Given the description of an element on the screen output the (x, y) to click on. 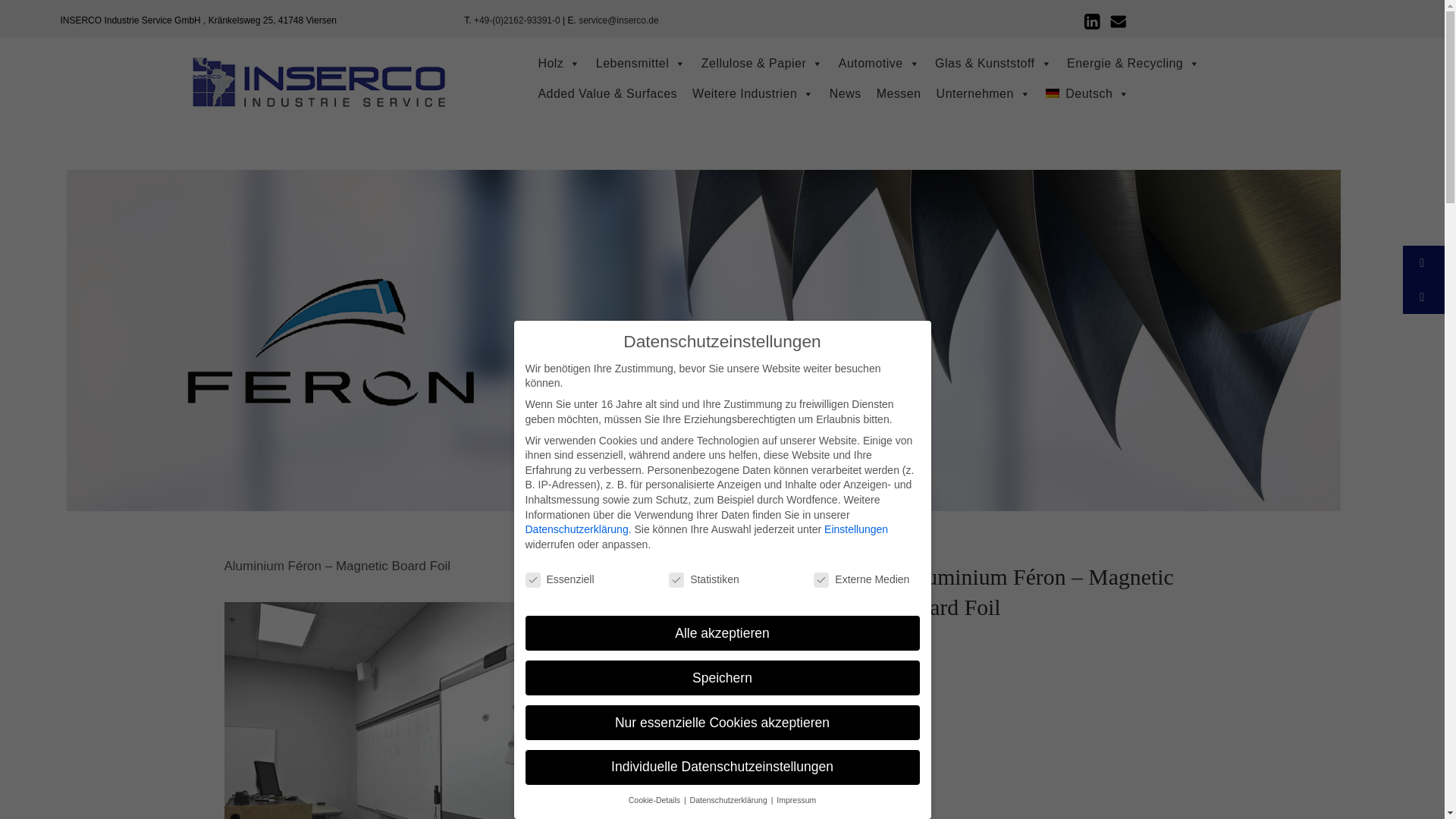
Holz (558, 63)
Inserco GmbH (317, 89)
Deutsch (1087, 93)
Automotive (879, 63)
Lebensmittel (641, 63)
